Given the description of an element on the screen output the (x, y) to click on. 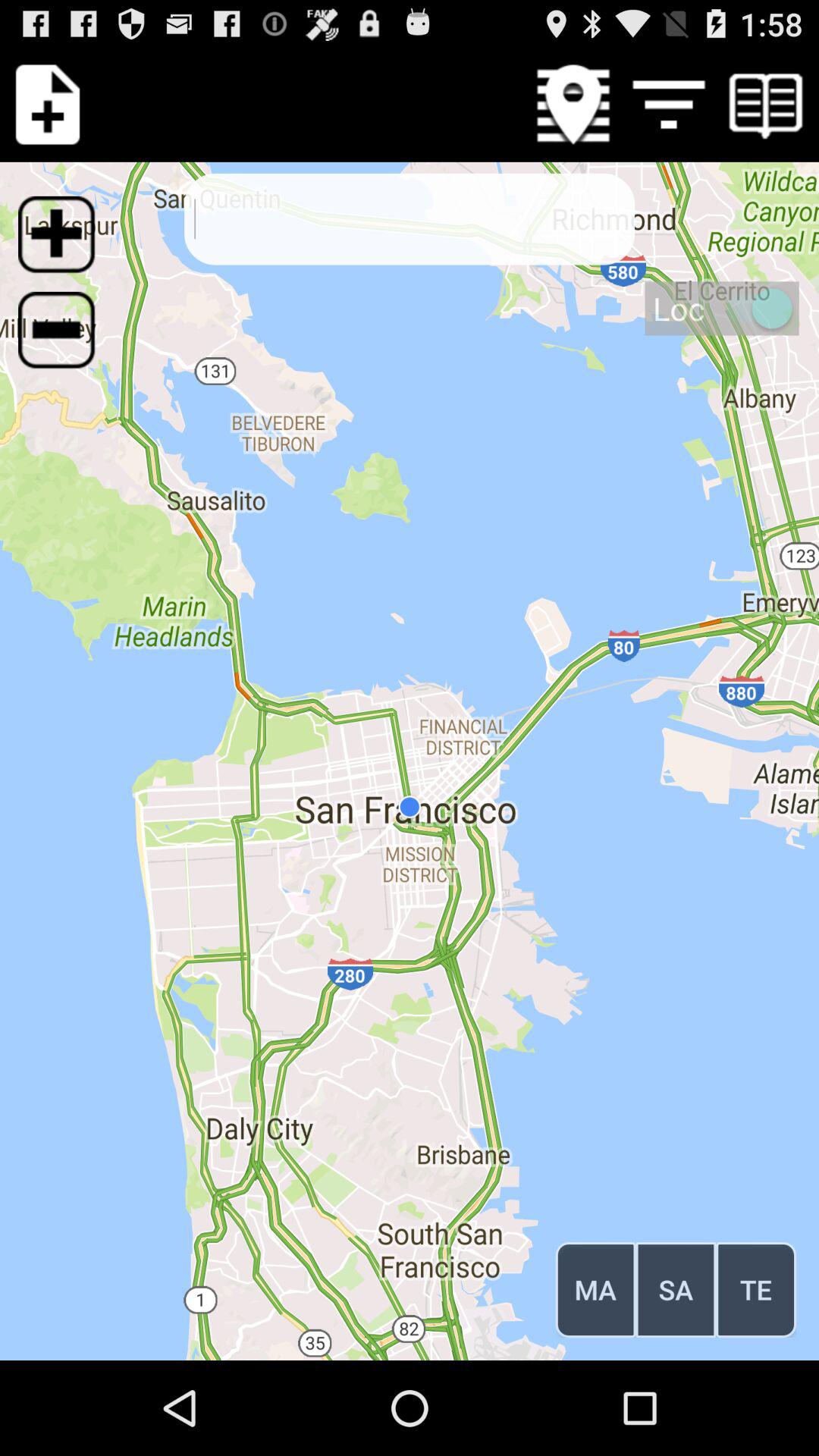
press the item next to the te (675, 1289)
